Given the description of an element on the screen output the (x, y) to click on. 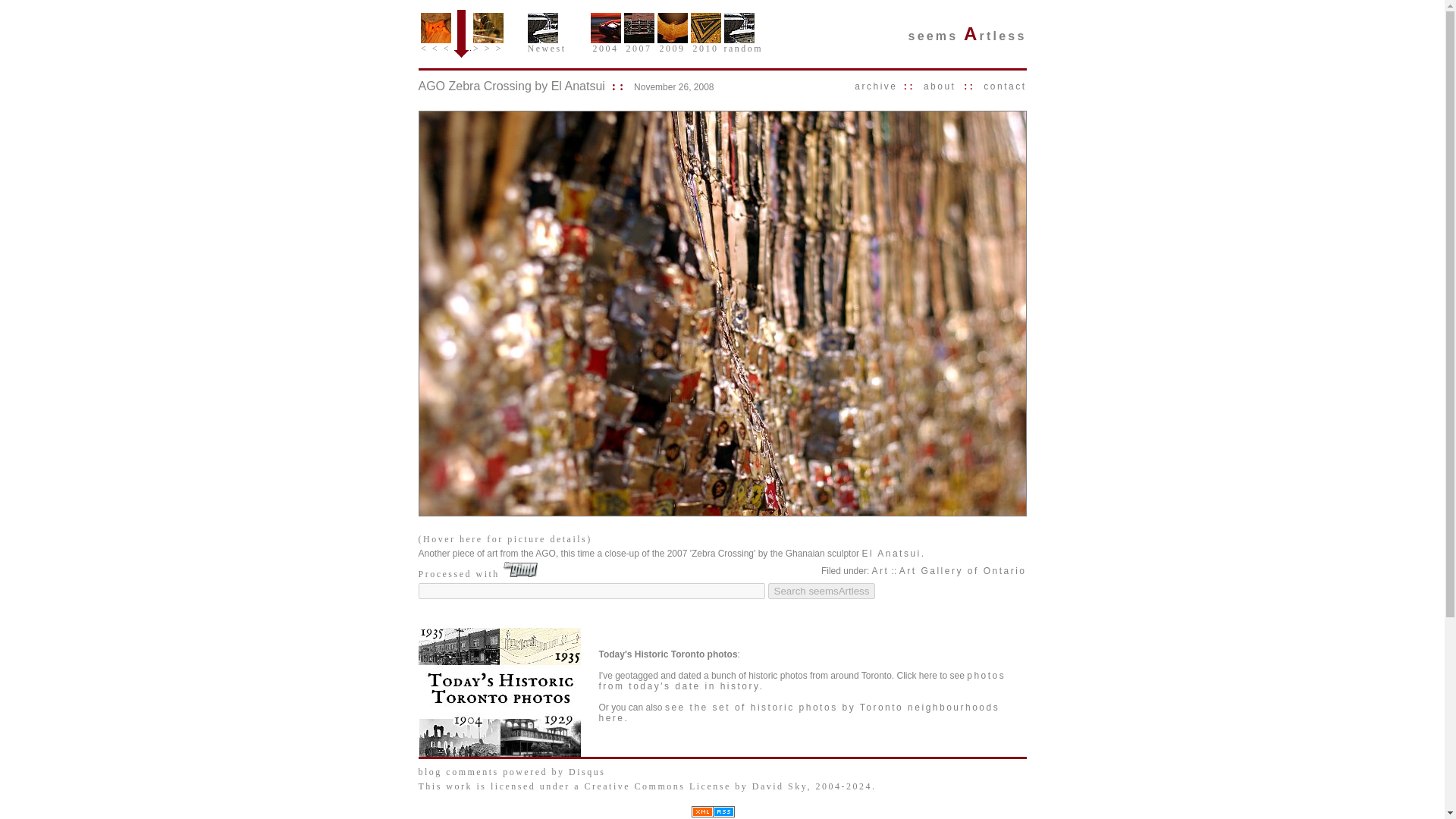
Random picture (738, 28)
random (742, 44)
Newest (546, 44)
archive (875, 86)
Next picture (488, 28)
2004 (604, 44)
Picture from 2004 (604, 28)
Picture from 2007 (638, 28)
Newest picture (542, 28)
Picture from 2009 (671, 28)
El Anatsui. (892, 552)
Art (880, 570)
blog comments powered by Disqus (512, 771)
Processed with (478, 573)
